Given the description of an element on the screen output the (x, y) to click on. 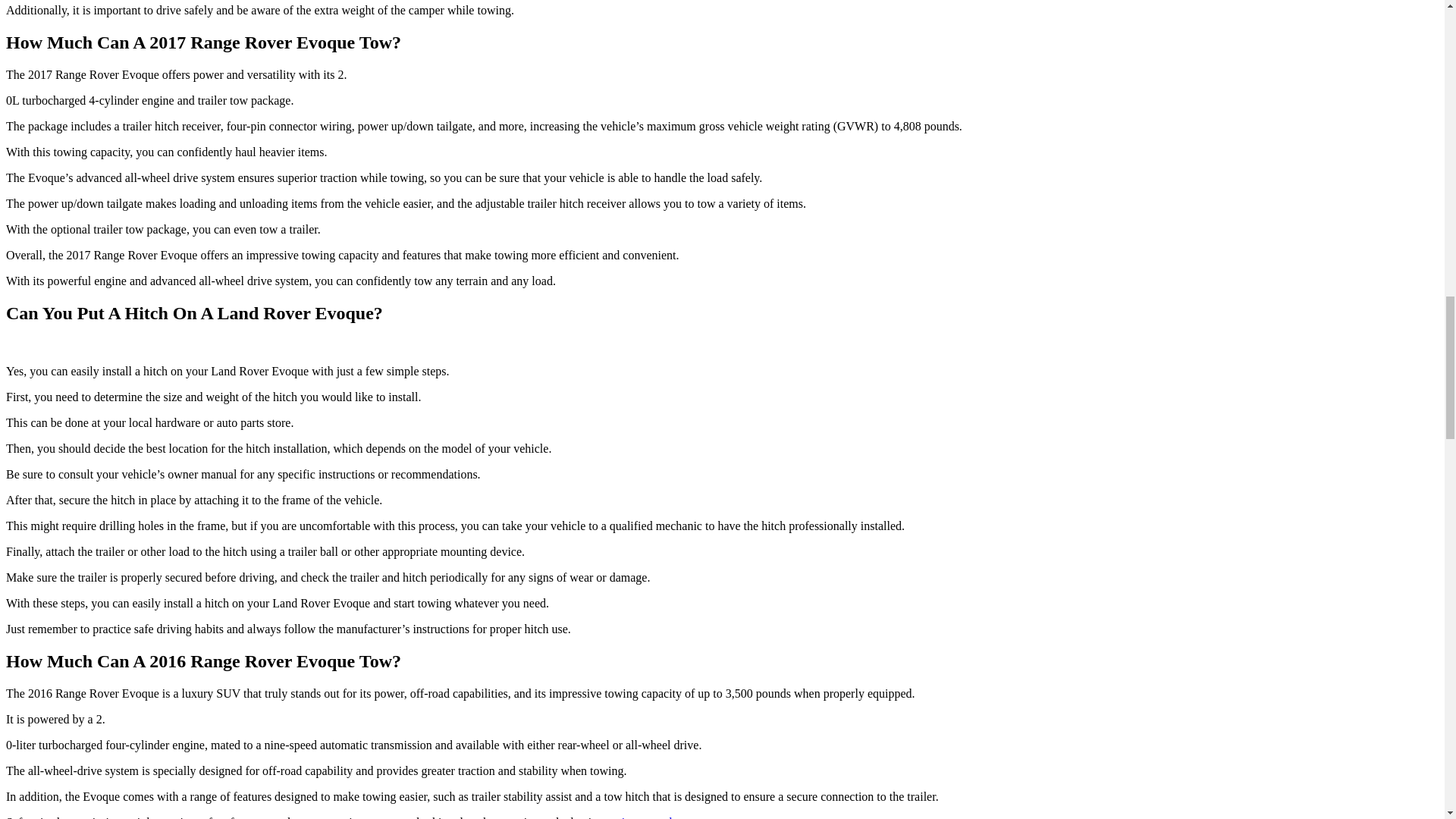
cruise control (638, 817)
